Given the description of an element on the screen output the (x, y) to click on. 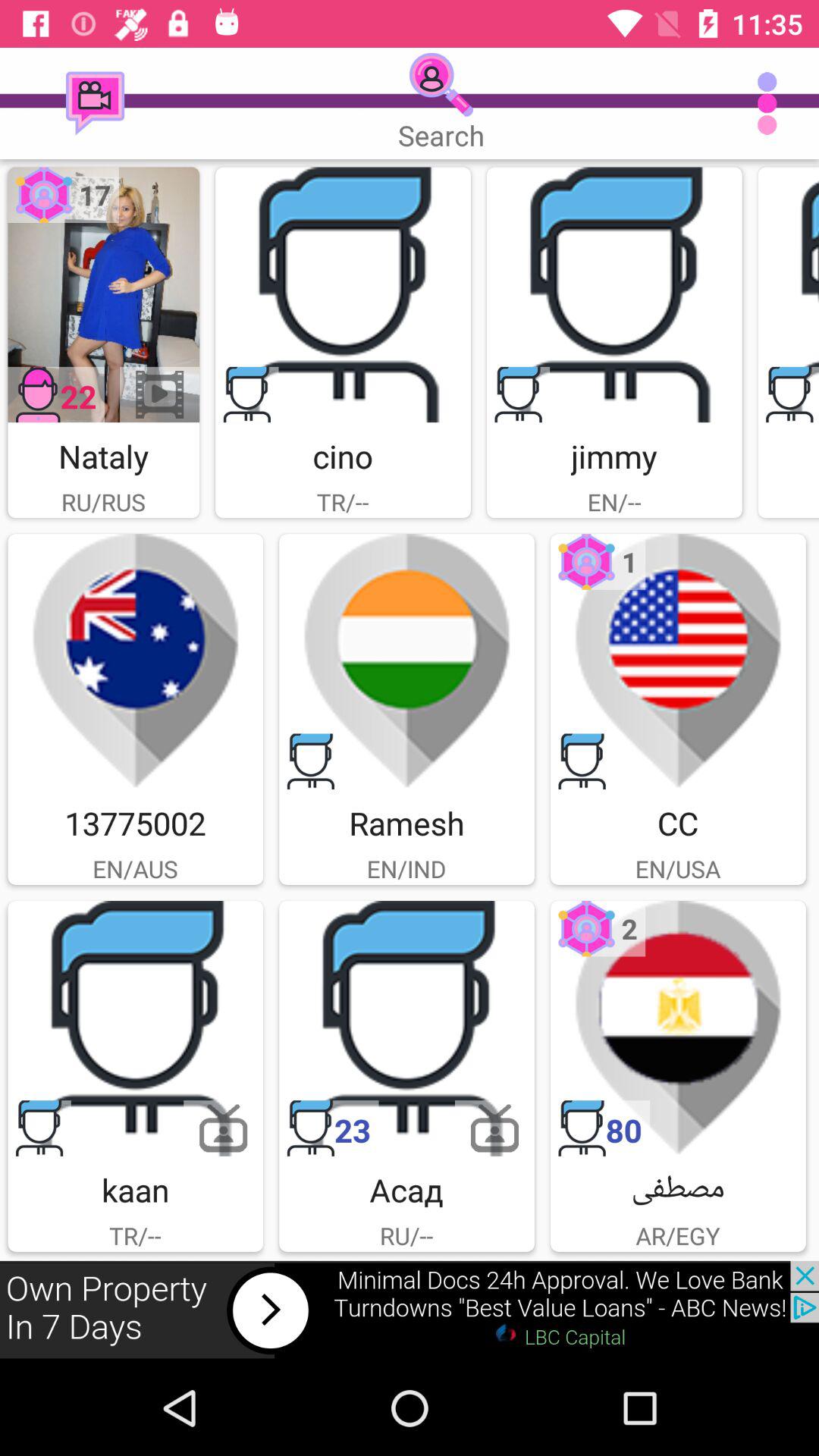
advertisement (614, 294)
